Given the description of an element on the screen output the (x, y) to click on. 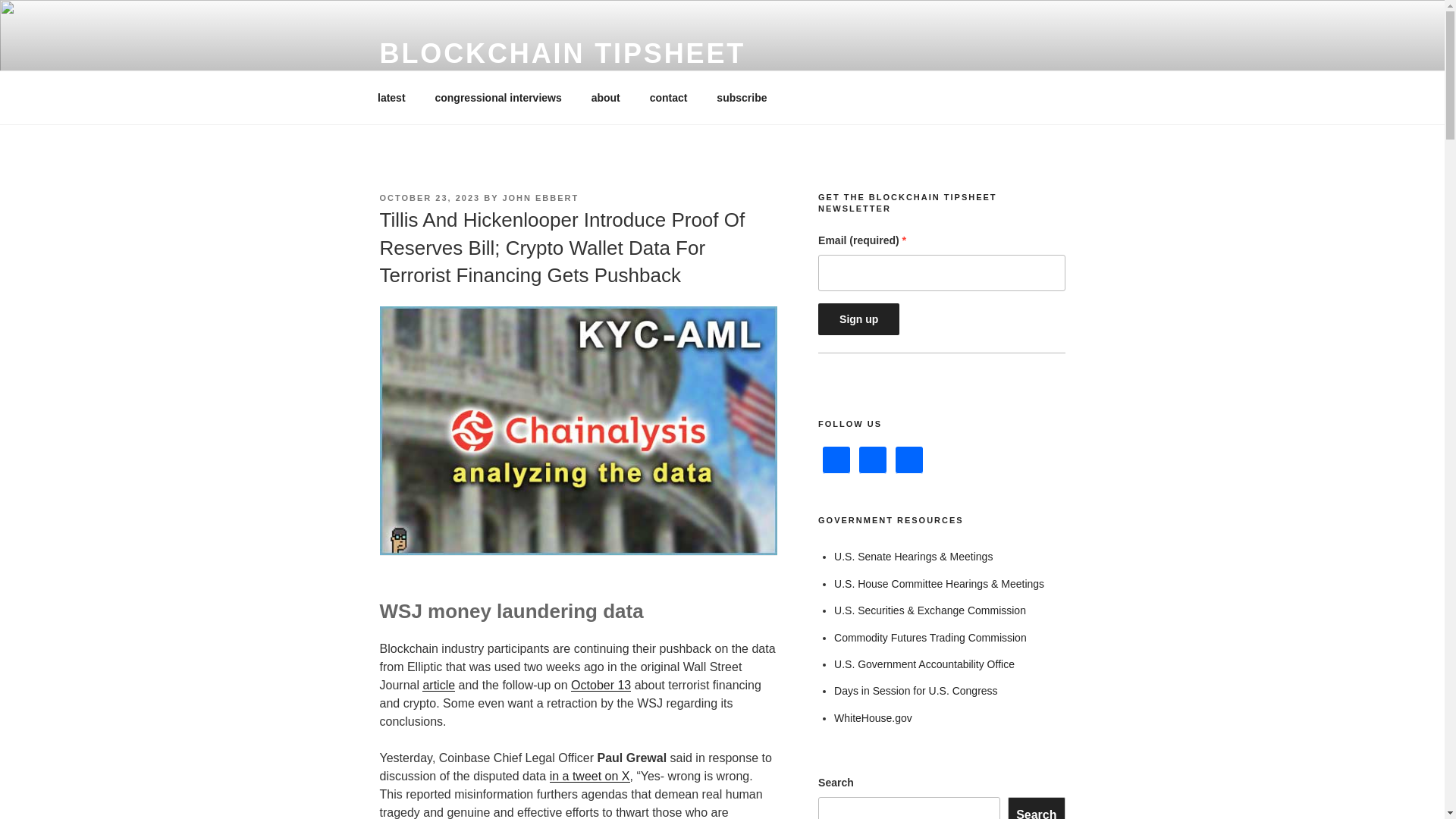
Sign up (858, 318)
OCTOBER 23, 2023 (429, 197)
BLOCKCHAIN TIPSHEET (561, 52)
JOHN EBBERT (540, 197)
contact (668, 97)
in a tweet on X (590, 775)
article (438, 684)
October 13 (600, 684)
congressional interviews (498, 97)
about (605, 97)
latest (391, 97)
subscribe (741, 97)
